Given the description of an element on the screen output the (x, y) to click on. 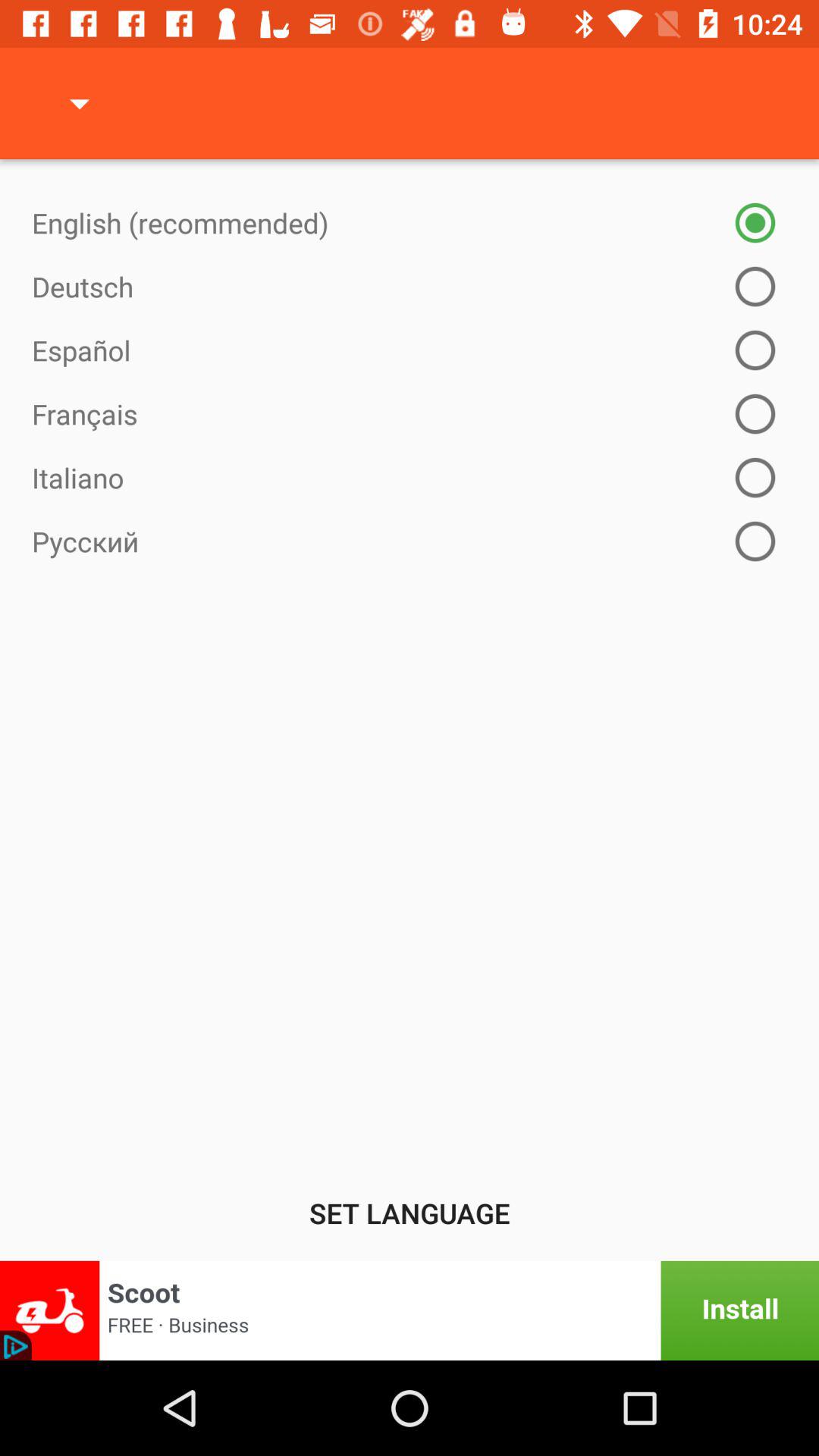
open advertisement (409, 1310)
